Given the description of an element on the screen output the (x, y) to click on. 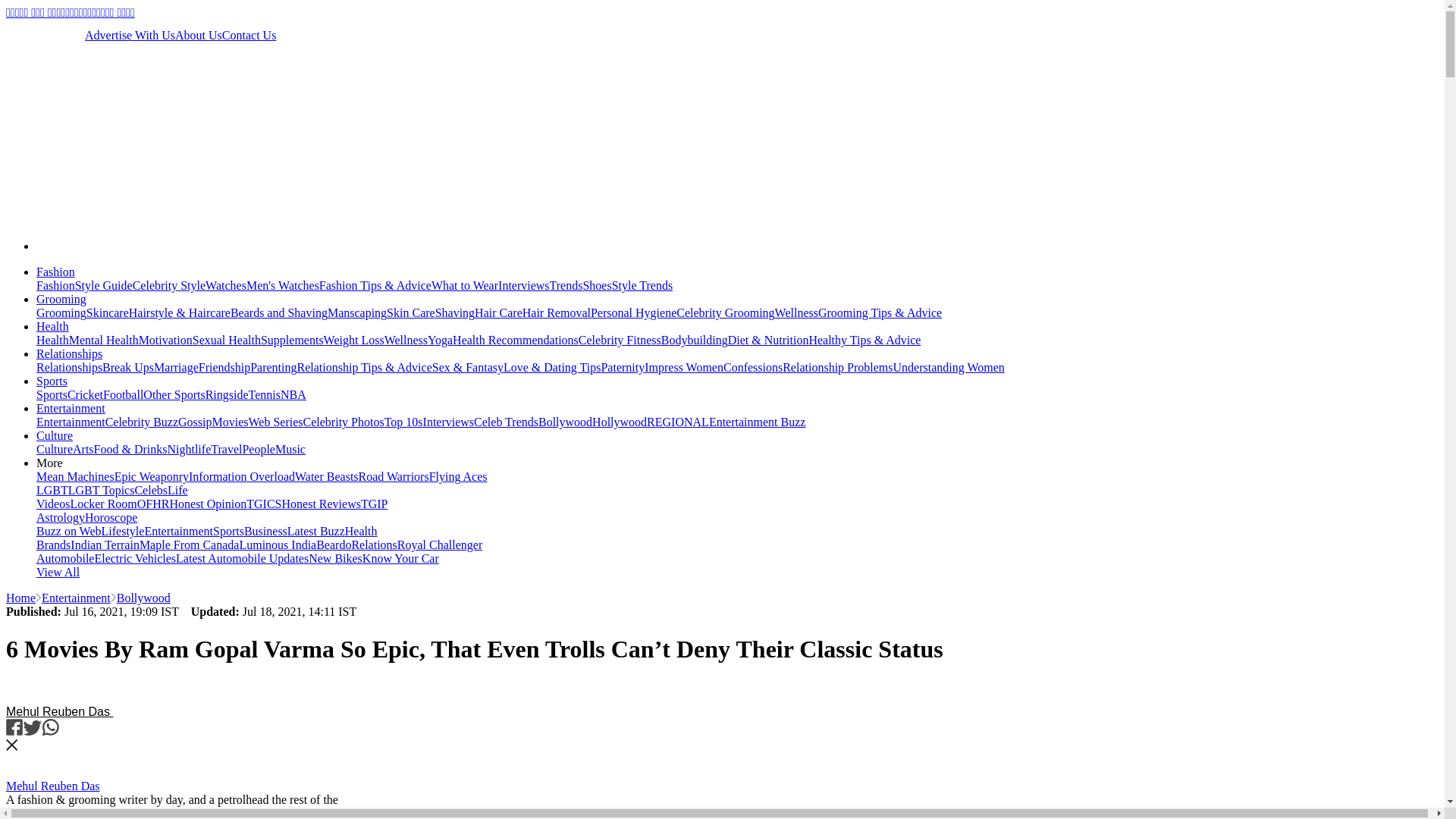
Beards and Shaving (278, 312)
Instagram (15, 34)
Trends (566, 285)
Advertise With Us (129, 34)
About Us (198, 34)
Skin Care (411, 312)
Mental Health (103, 339)
Contact Us (249, 34)
Contact Us  (249, 34)
Skincare (107, 312)
Bollywood (143, 597)
TwitterX (55, 34)
Grooming (60, 312)
Entertainment (76, 597)
Style Guide (103, 285)
